Given the description of an element on the screen output the (x, y) to click on. 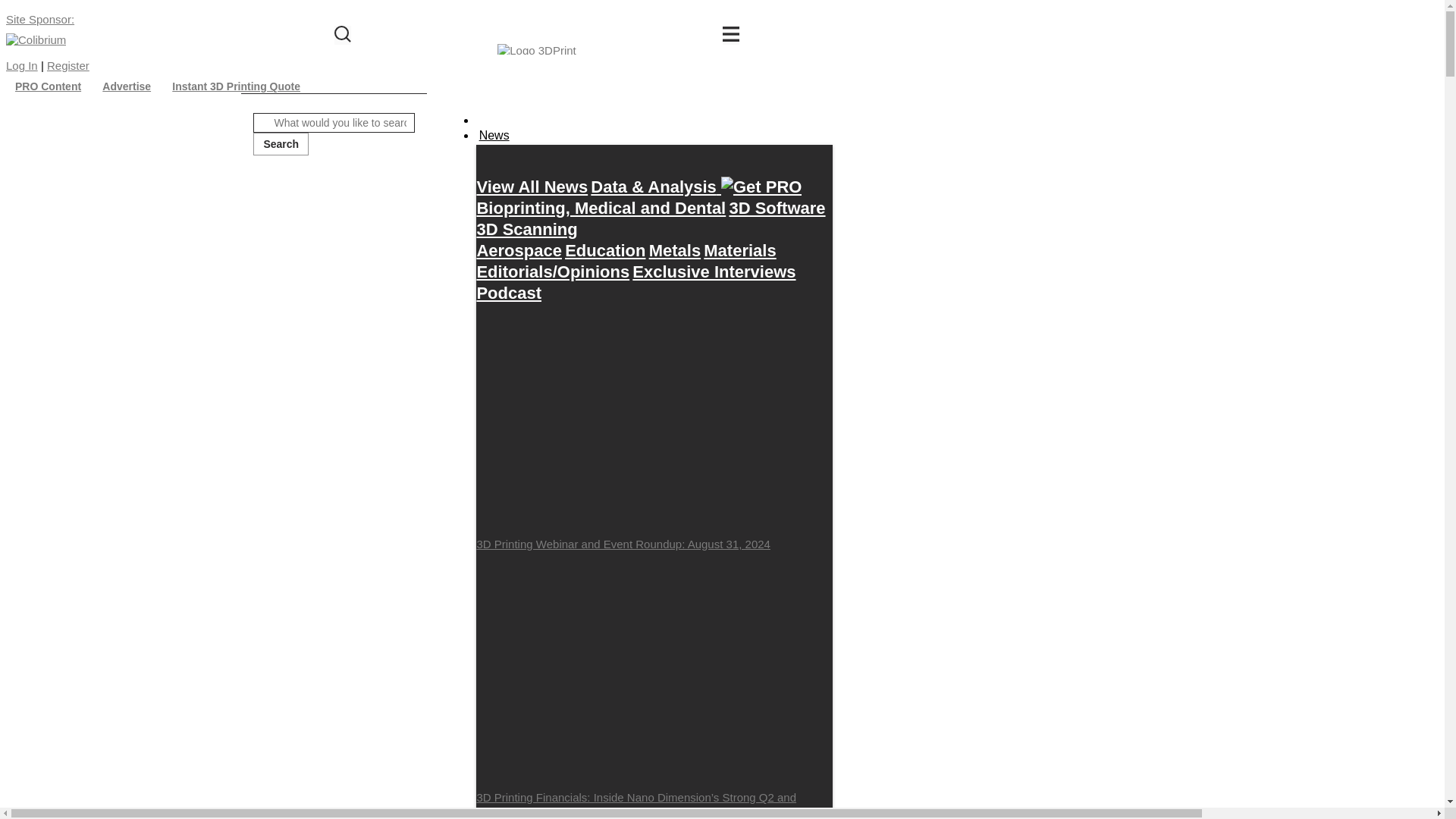
Instant 3D Printing Quote (235, 86)
Education (604, 250)
News (493, 135)
Exclusive Interviews (712, 271)
Aerospace (519, 250)
Podcast (508, 292)
3D Printing Webinar and Event Roundup: August 31, 2024 (653, 427)
3D Scanning (526, 229)
Advertise (126, 86)
Register (67, 65)
